Given the description of an element on the screen output the (x, y) to click on. 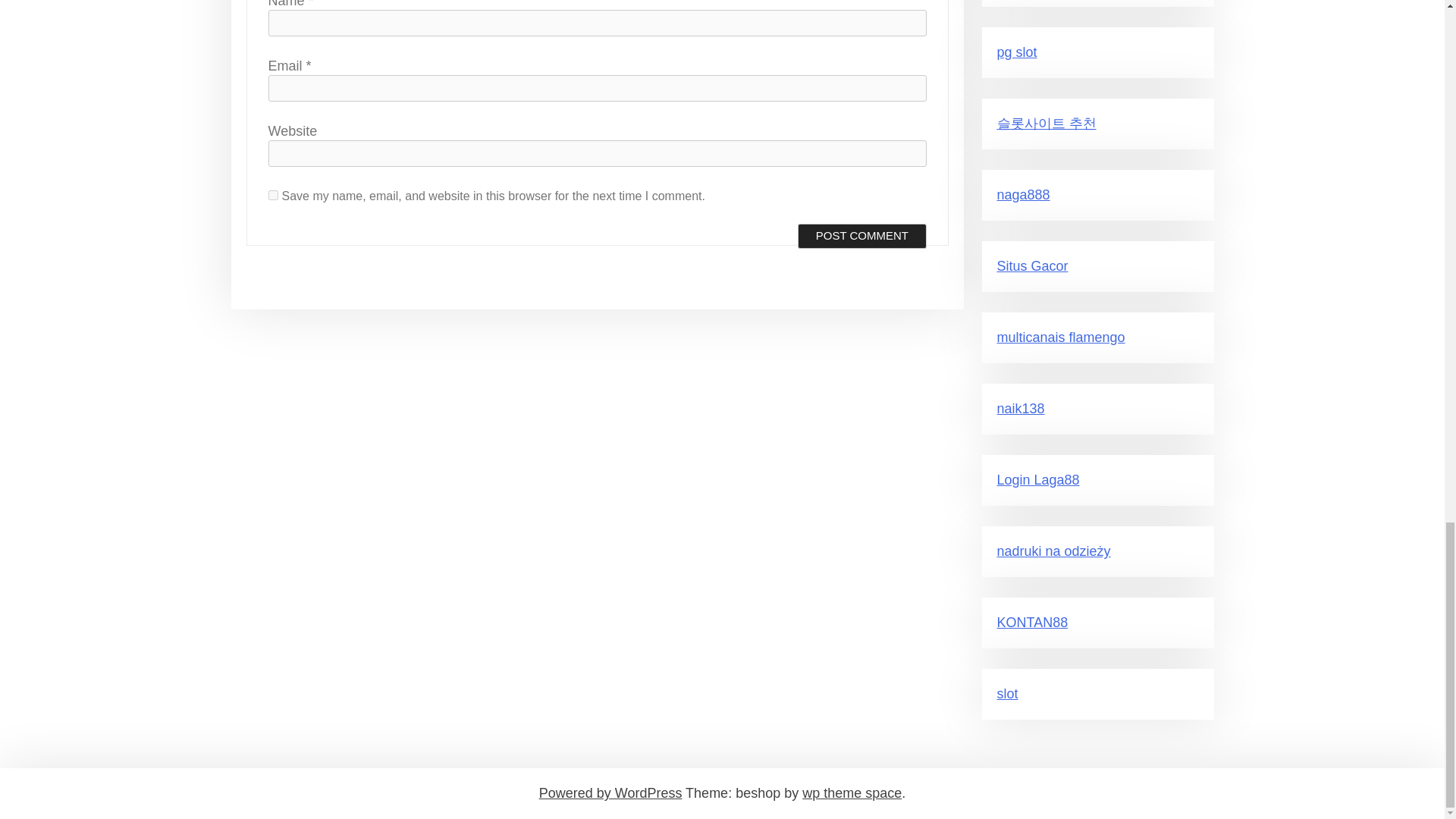
Post Comment (861, 236)
Post Comment (861, 236)
yes (272, 194)
